Given the description of an element on the screen output the (x, y) to click on. 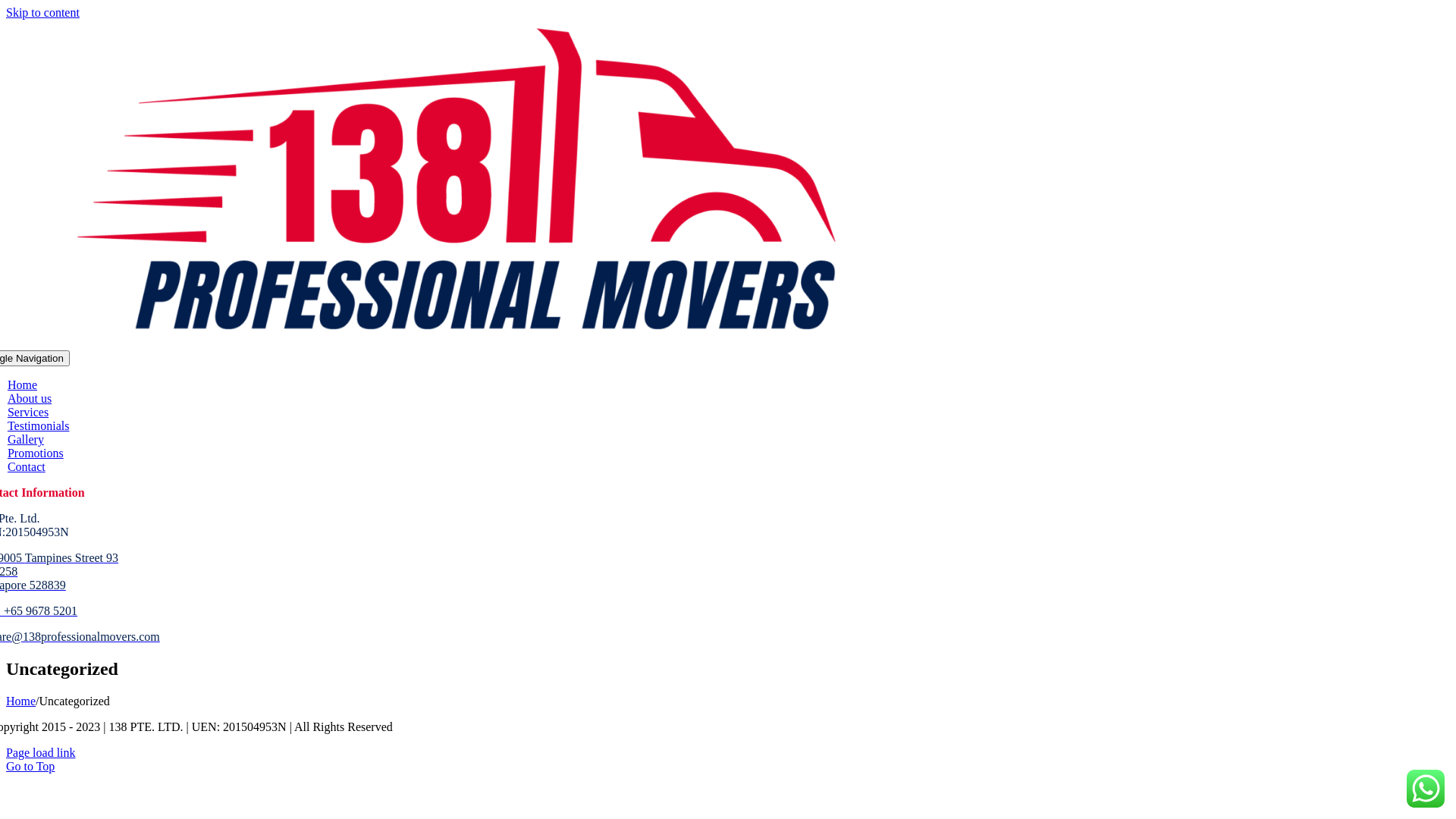
Gallery Element type: text (25, 439)
About us Element type: text (29, 398)
Services Element type: text (27, 411)
Testimonials Element type: text (38, 425)
Contact Element type: text (26, 466)
Promotions Element type: text (35, 452)
Skip to content Element type: text (42, 12)
Go to Top Element type: text (30, 765)
Home Element type: text (22, 384)
Home Element type: text (20, 700)
Page load link Element type: text (40, 752)
